Given the description of an element on the screen output the (x, y) to click on. 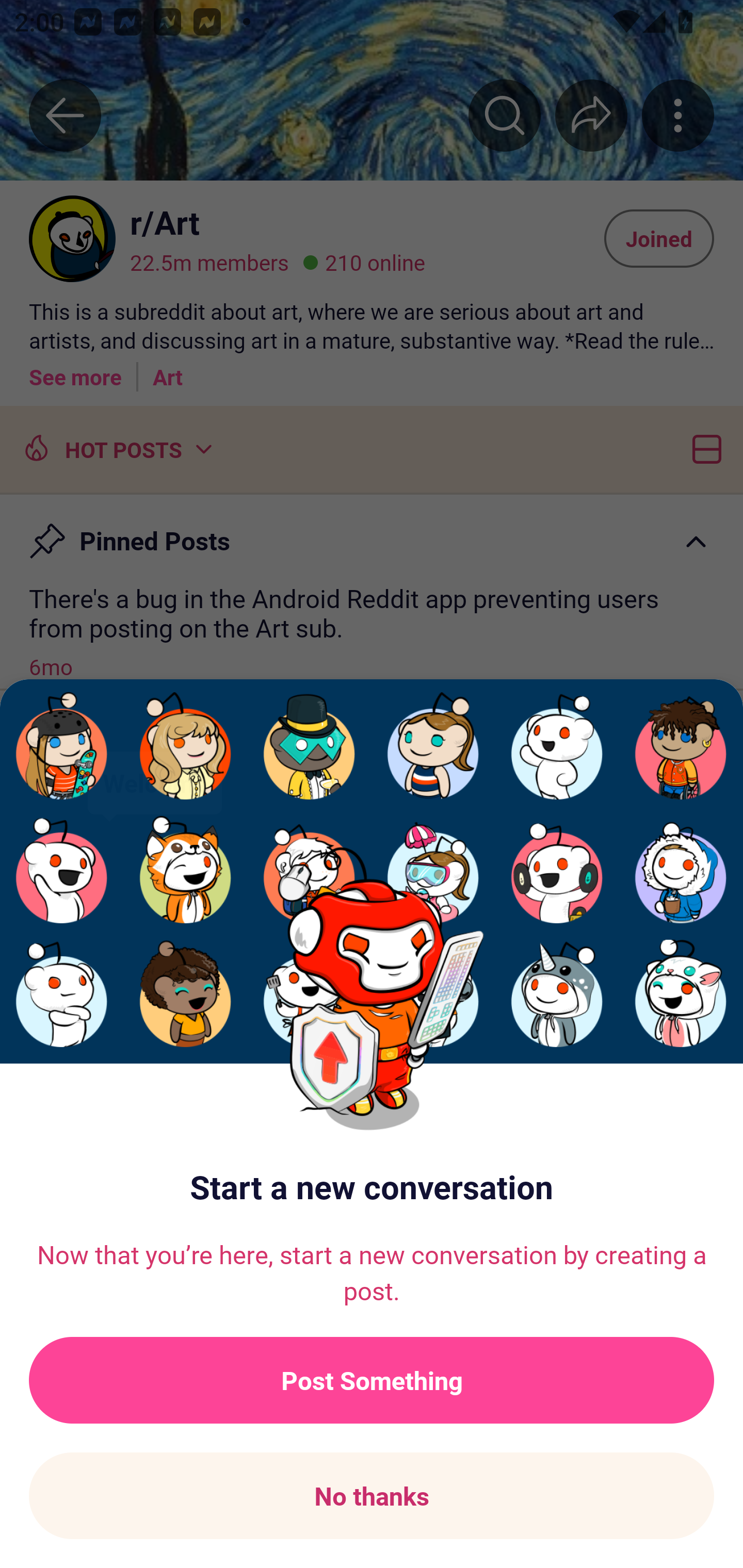
Post Something (371, 1380)
No thanks (371, 1495)
